Given the description of an element on the screen output the (x, y) to click on. 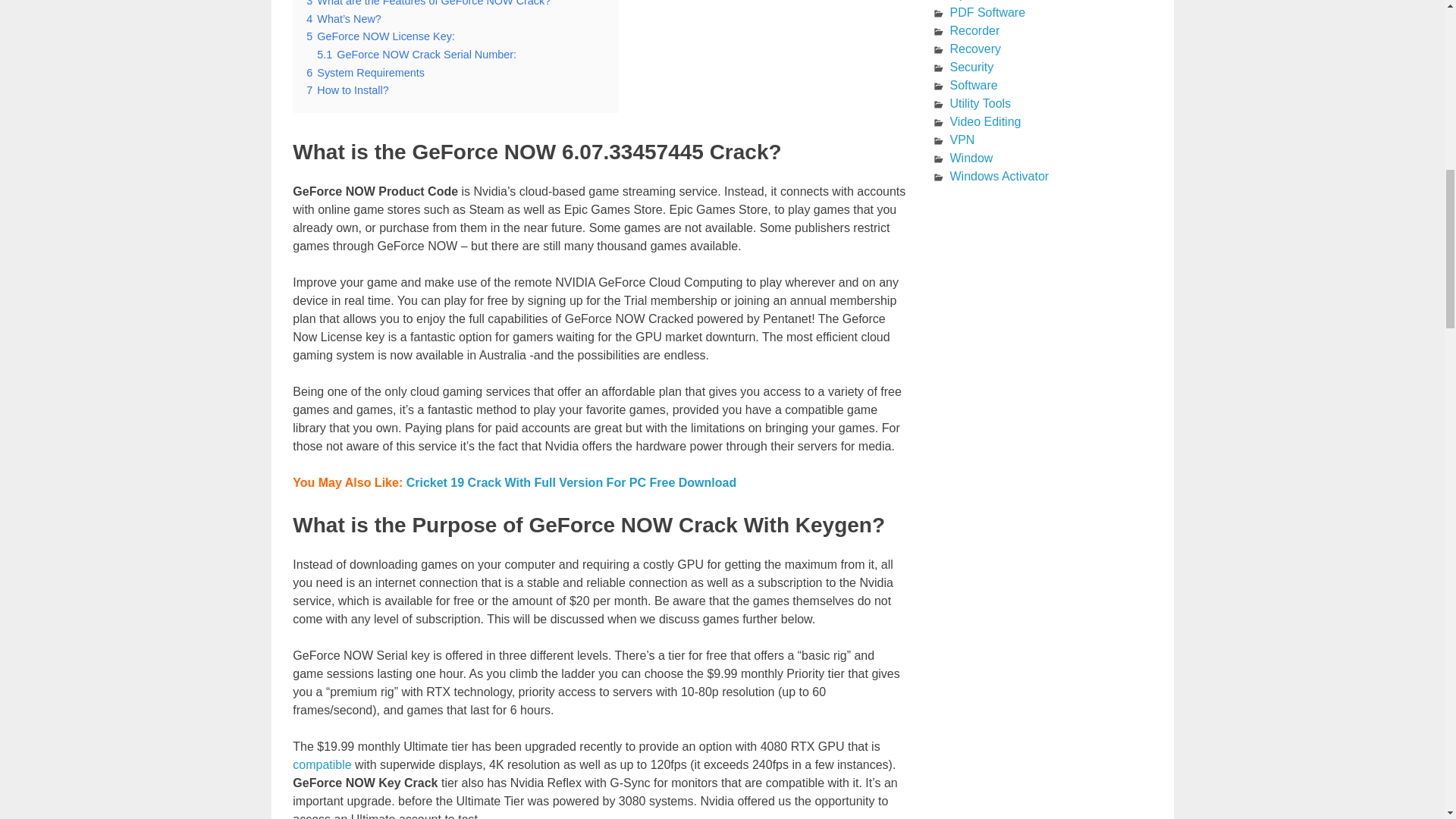
5.1 GeForce NOW Crack Serial Number: (416, 54)
3 What are the Features of GeForce NOW Crack? (427, 3)
7 How to Install? (346, 90)
Cricket 19 Crack With Full Version For PC Free Download (571, 481)
6 System Requirements (365, 72)
compatible (321, 764)
5 GeForce NOW License Key: (379, 36)
